Given the description of an element on the screen output the (x, y) to click on. 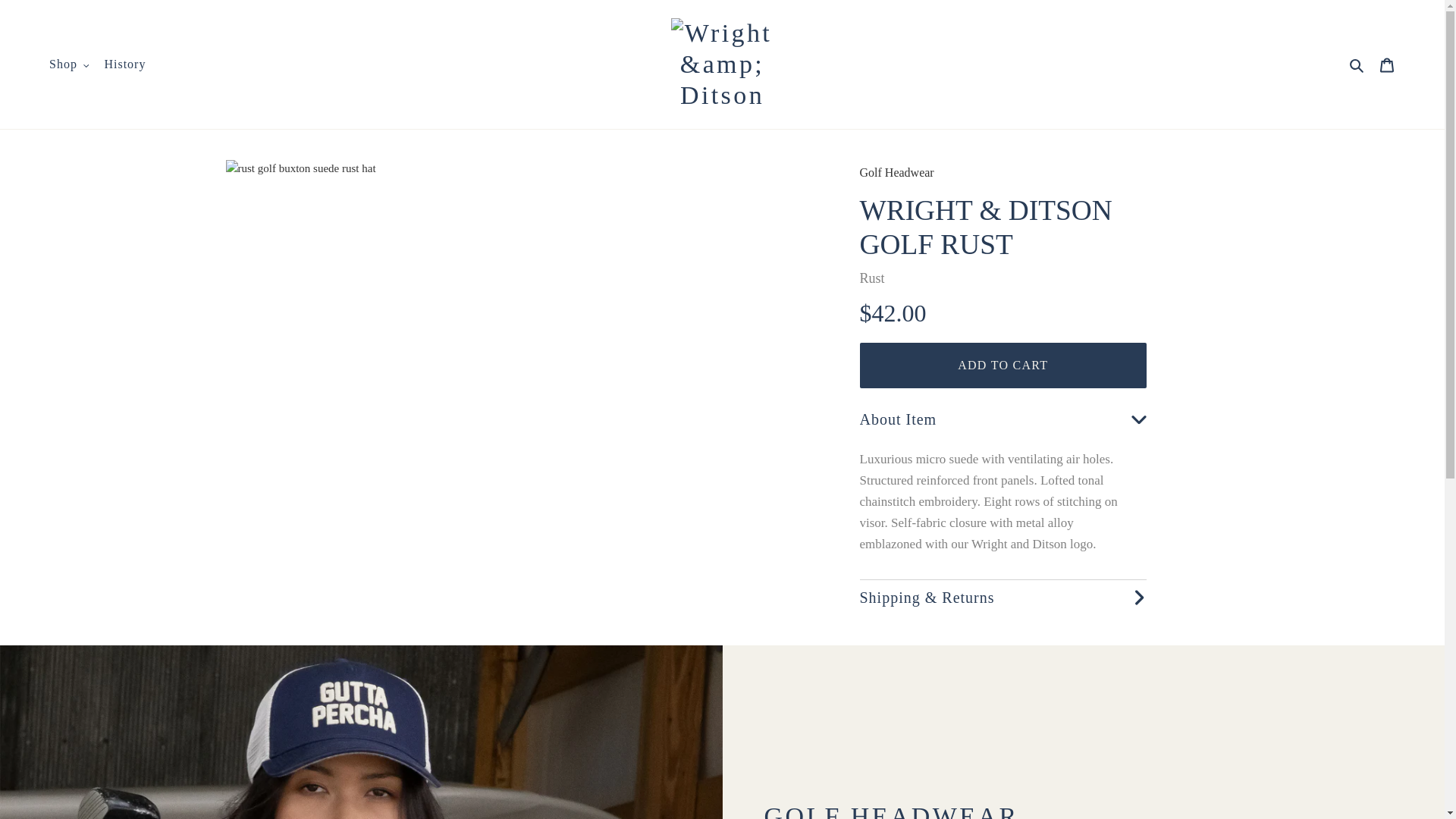
Shop (69, 64)
Cart (1387, 64)
Search (1357, 64)
History (124, 64)
